Given the description of an element on the screen output the (x, y) to click on. 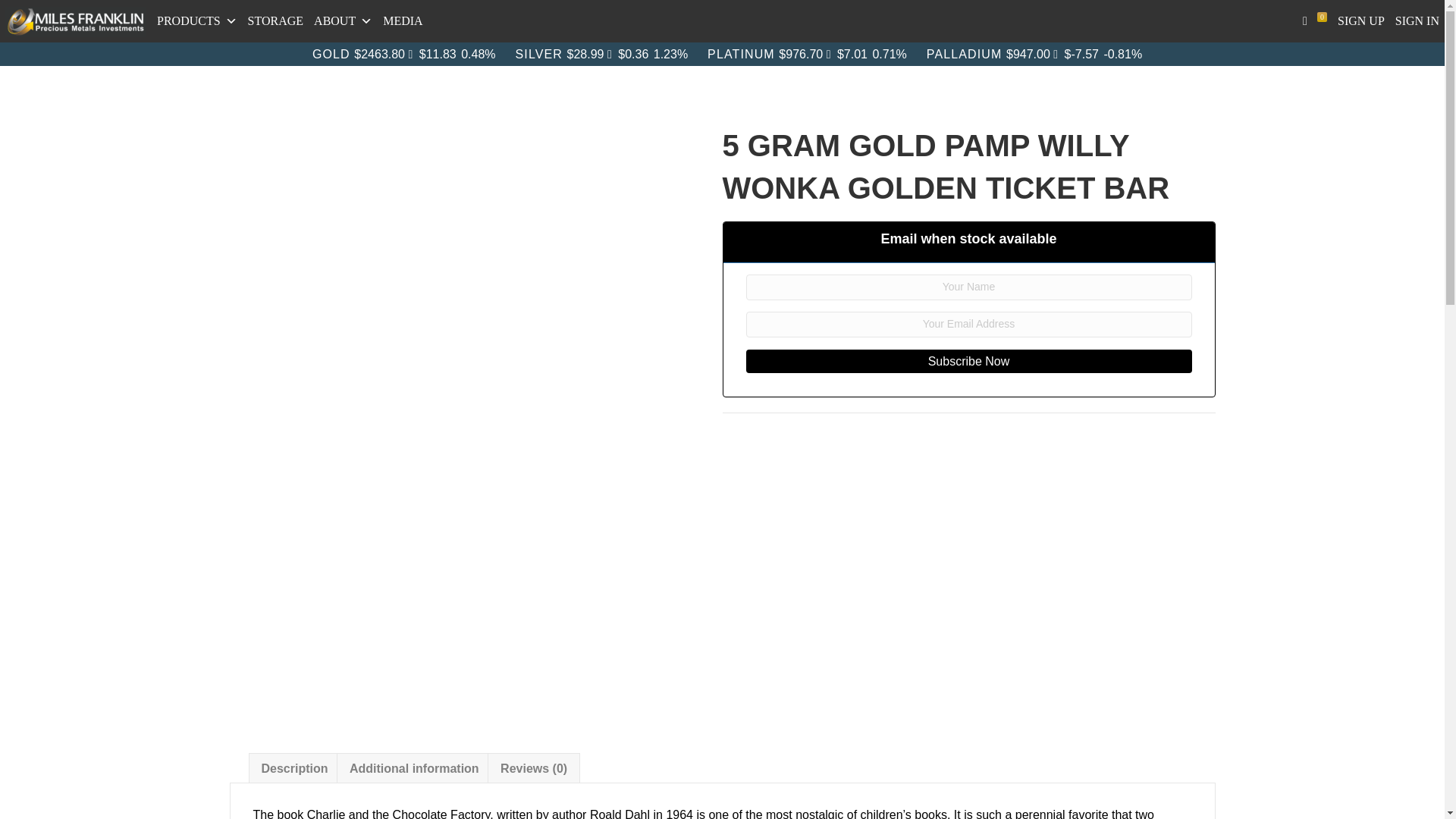
PRODUCTS (197, 21)
Subscribe Now (968, 361)
